Given the description of an element on the screen output the (x, y) to click on. 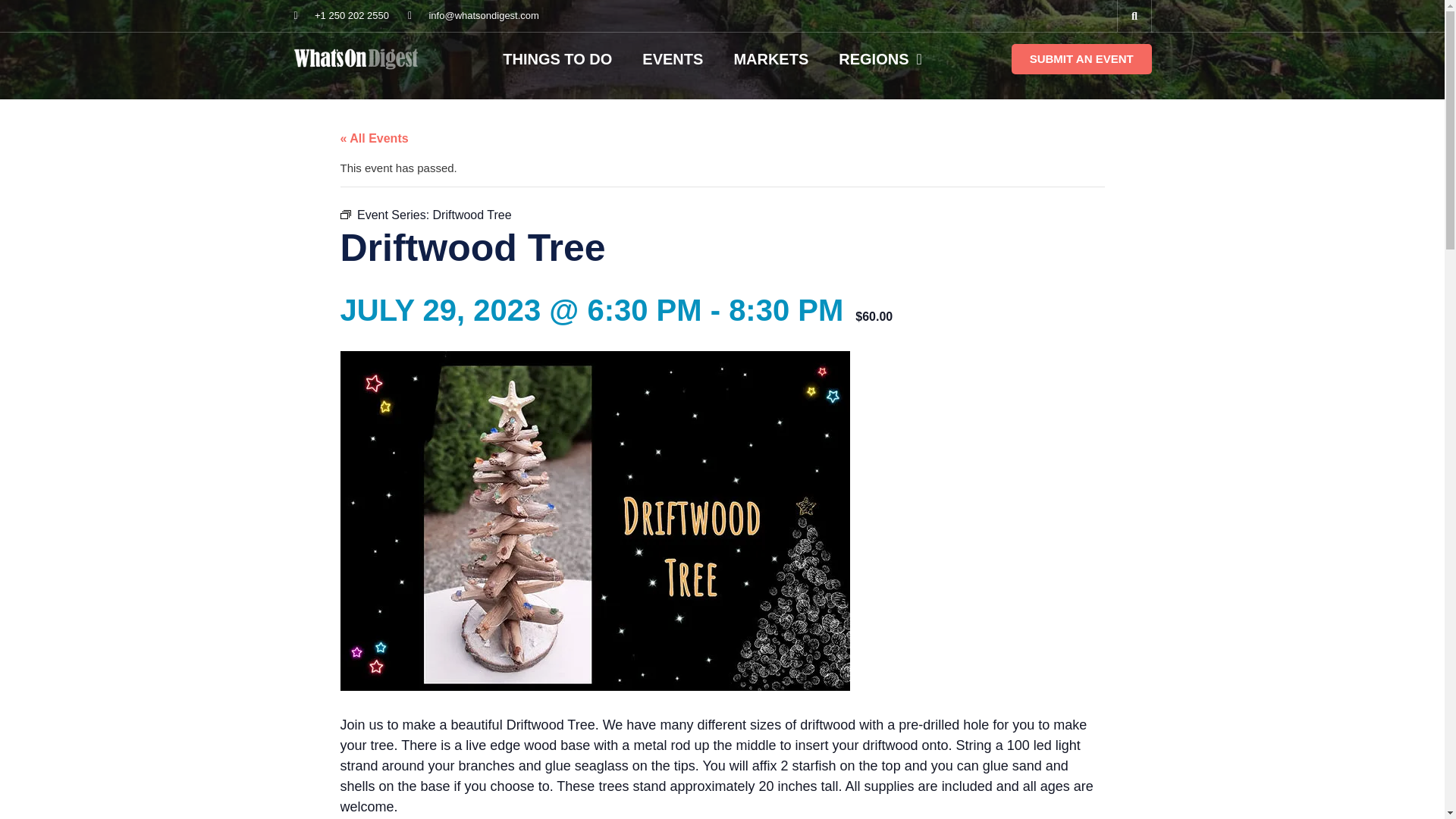
Event Series (344, 213)
Driftwood Tree (472, 214)
MARKETS (770, 58)
EVENTS (672, 58)
THINGS TO DO (556, 58)
REGIONS (879, 58)
SUBMIT AN EVENT (1081, 59)
